Given the description of an element on the screen output the (x, y) to click on. 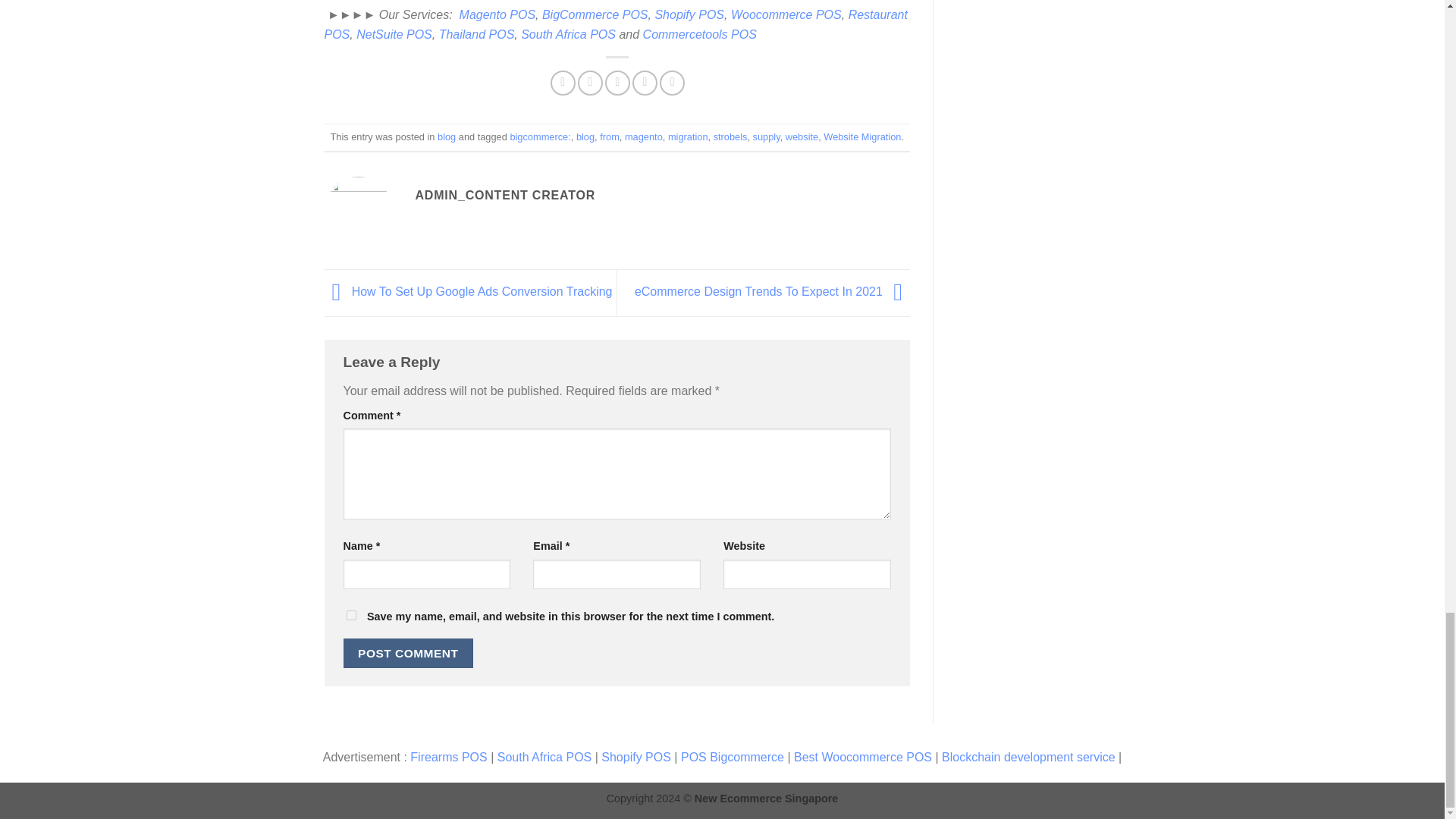
Thailand POS (477, 33)
Bigcommerce pos (594, 14)
Magento POS (497, 14)
shopify pos (688, 14)
yes (350, 614)
Shopify POS (688, 14)
Restaurant POS (615, 24)
BigCommerce POS (594, 14)
magento pos extension (497, 14)
NetSuite POS (394, 33)
